Given the description of an element on the screen output the (x, y) to click on. 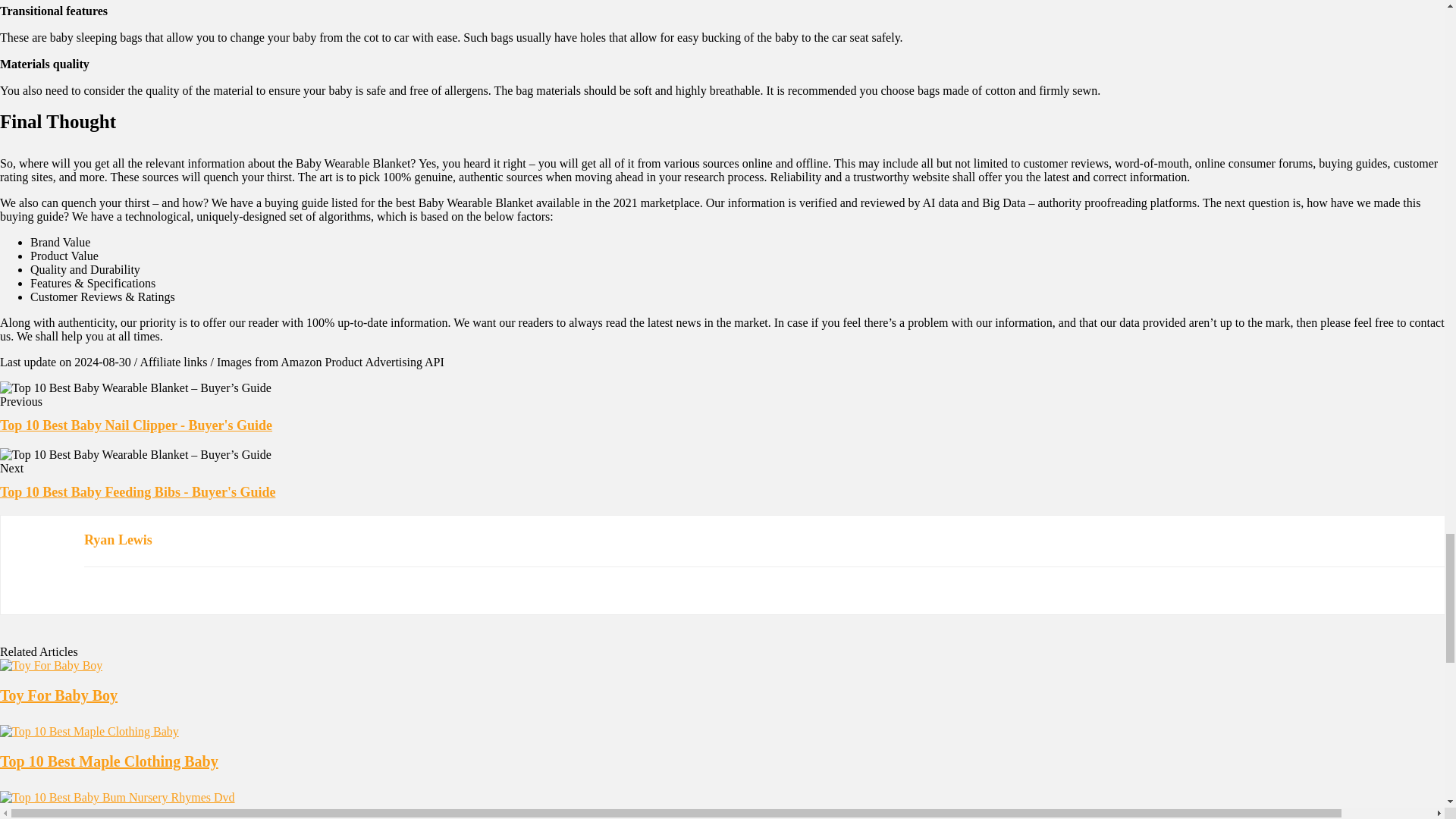
Toy For Baby Boy (58, 695)
Top 10 Best Baby Feeding Bibs - Buyer's Guide (137, 491)
Ryan Lewis (118, 539)
Top 10 Best Maple Clothing Baby (109, 760)
Top 10 Best Baby Nail Clipper - Buyer's Guide (136, 425)
